Given the description of an element on the screen output the (x, y) to click on. 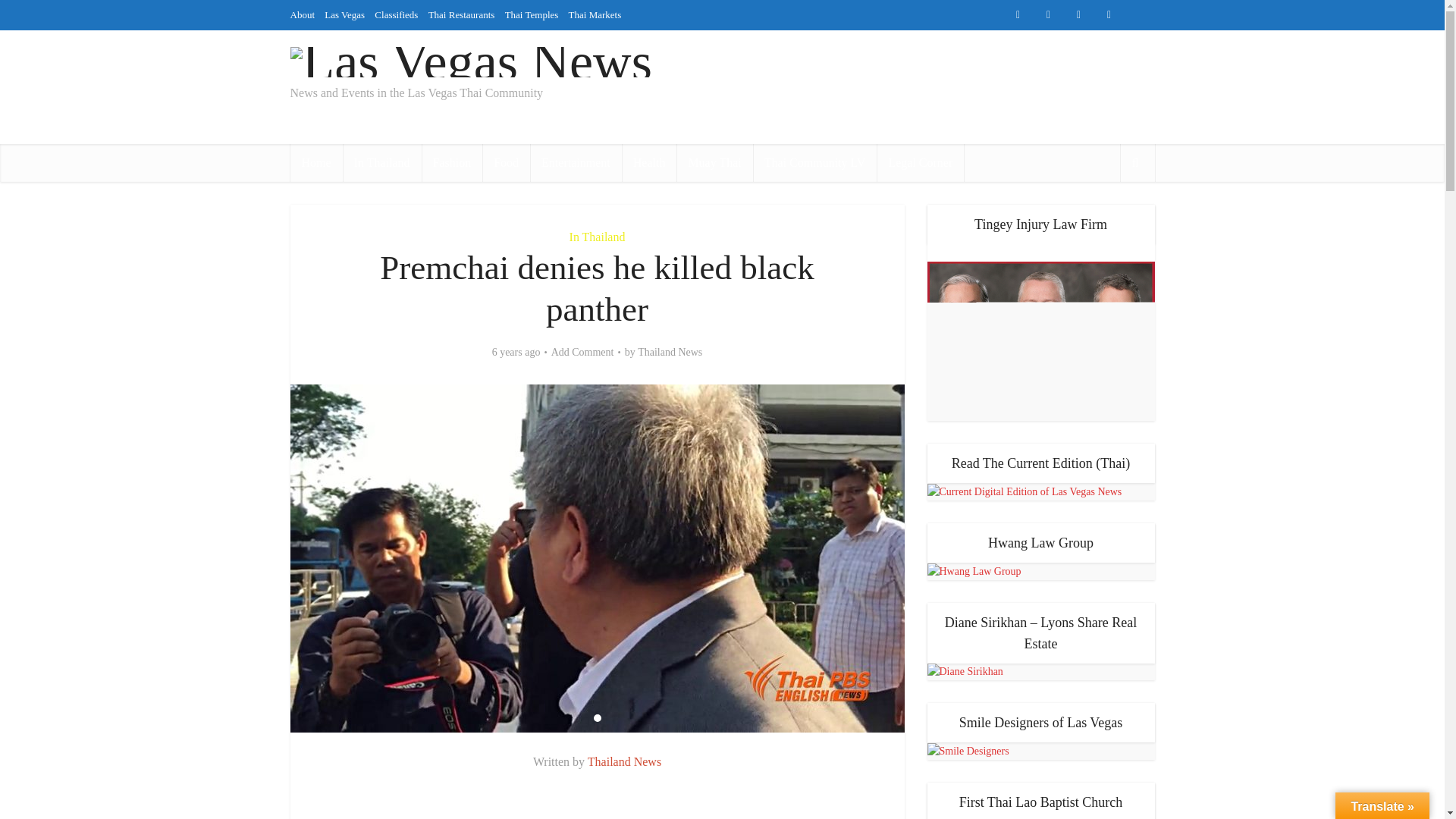
About (301, 14)
Classifieds (395, 14)
Home (315, 162)
In Thailand (382, 162)
Muay Thai (714, 162)
About (597, 44)
Food (505, 162)
Las Vegas (344, 14)
Thai Community LV (814, 162)
Thai Markets (595, 14)
